Given the description of an element on the screen output the (x, y) to click on. 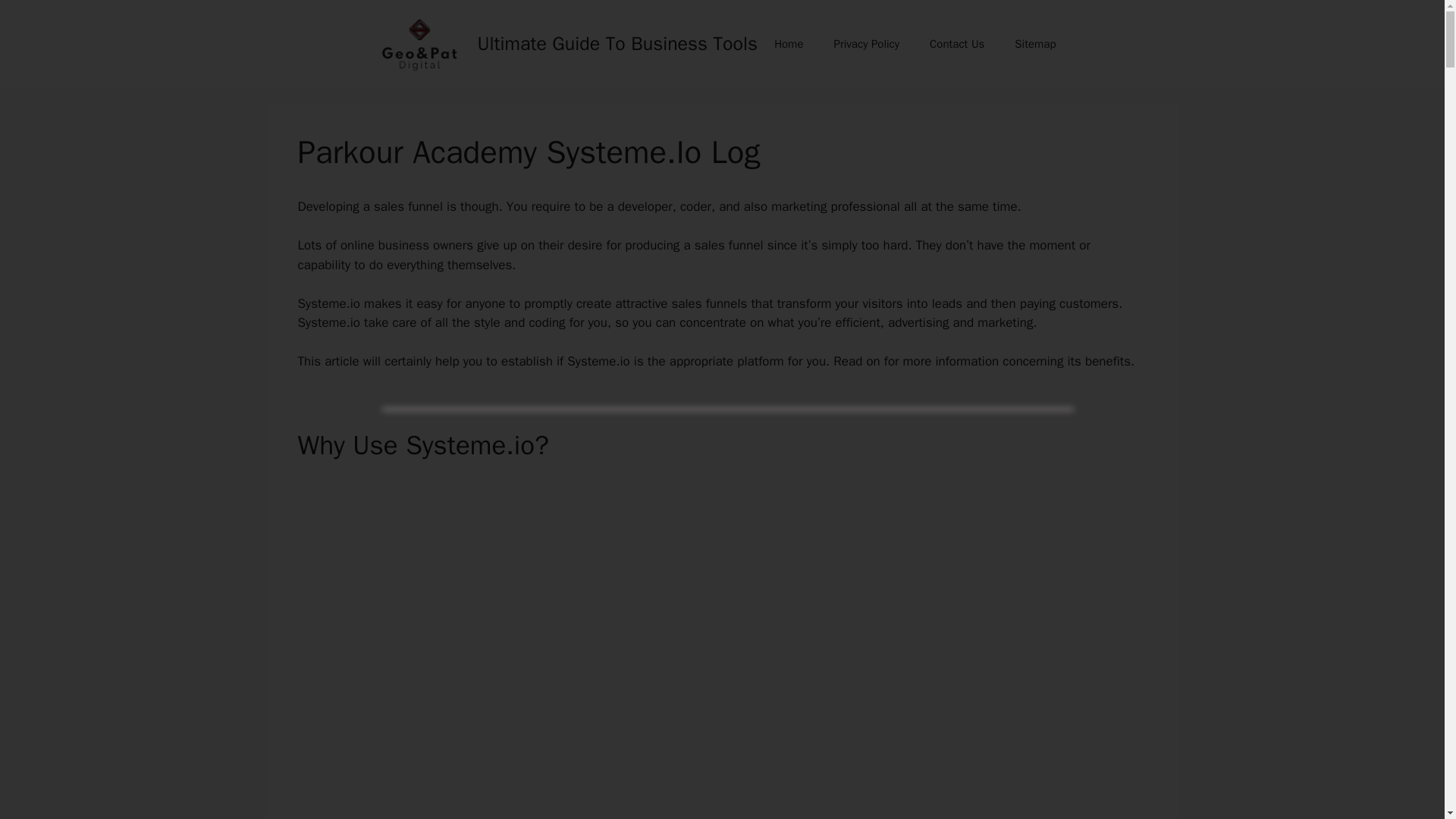
Home (788, 43)
Ultimate Guide To Business Tools (617, 43)
Privacy Policy (866, 43)
Contact Us (956, 43)
Sitemap (1034, 43)
